Given the description of an element on the screen output the (x, y) to click on. 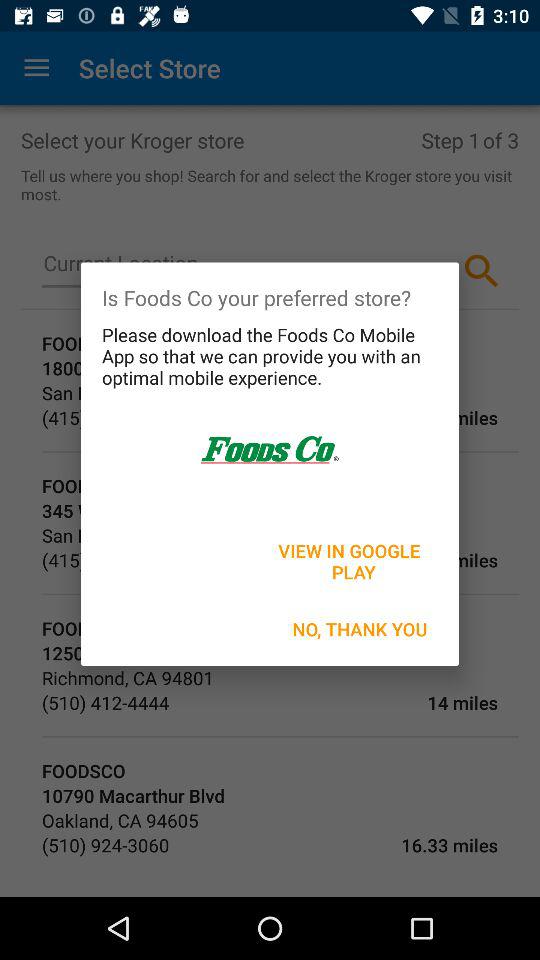
tap the icon above no, thank you icon (351, 561)
